Given the description of an element on the screen output the (x, y) to click on. 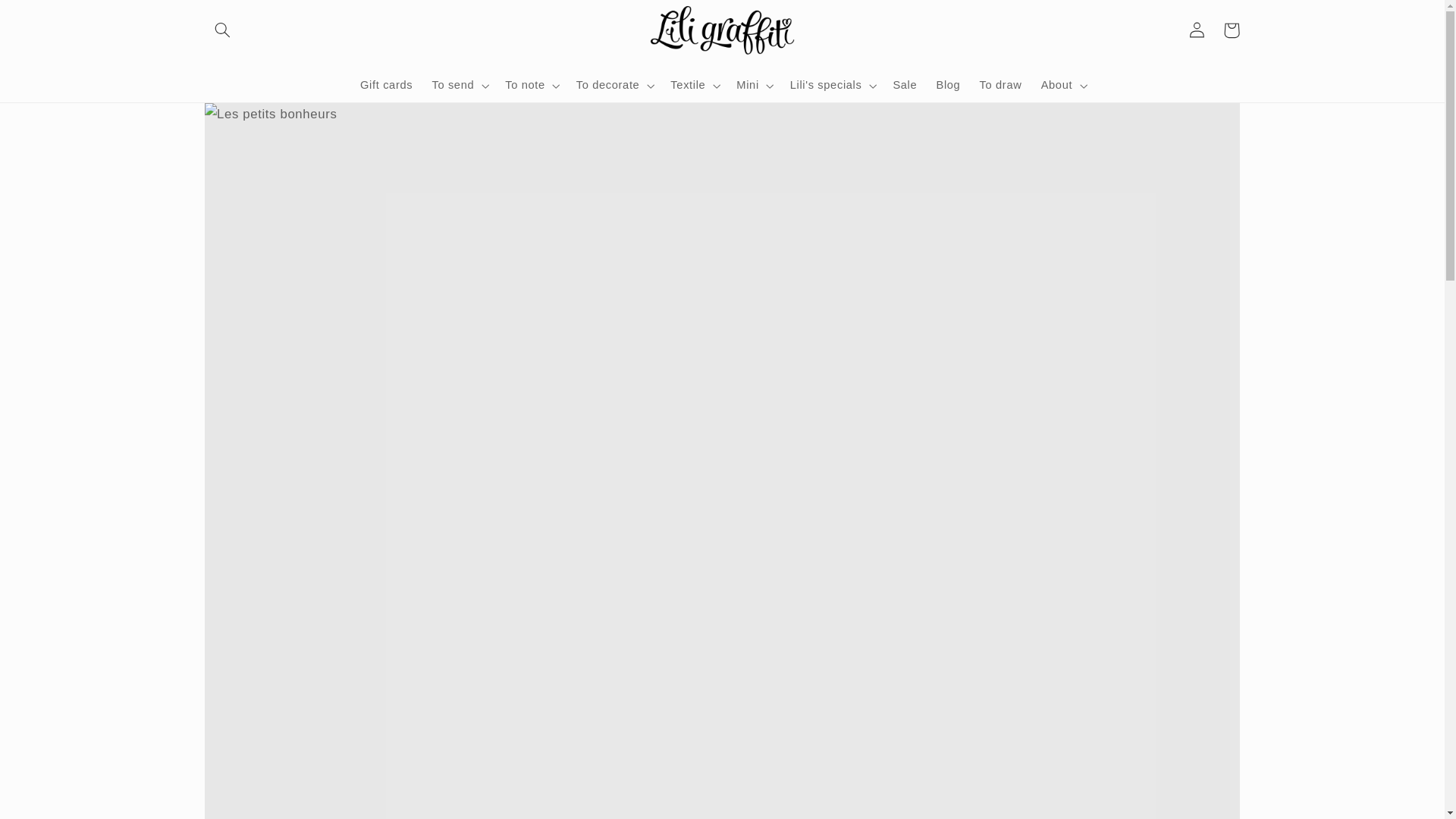
Skip to content (48, 18)
